Given the description of an element on the screen output the (x, y) to click on. 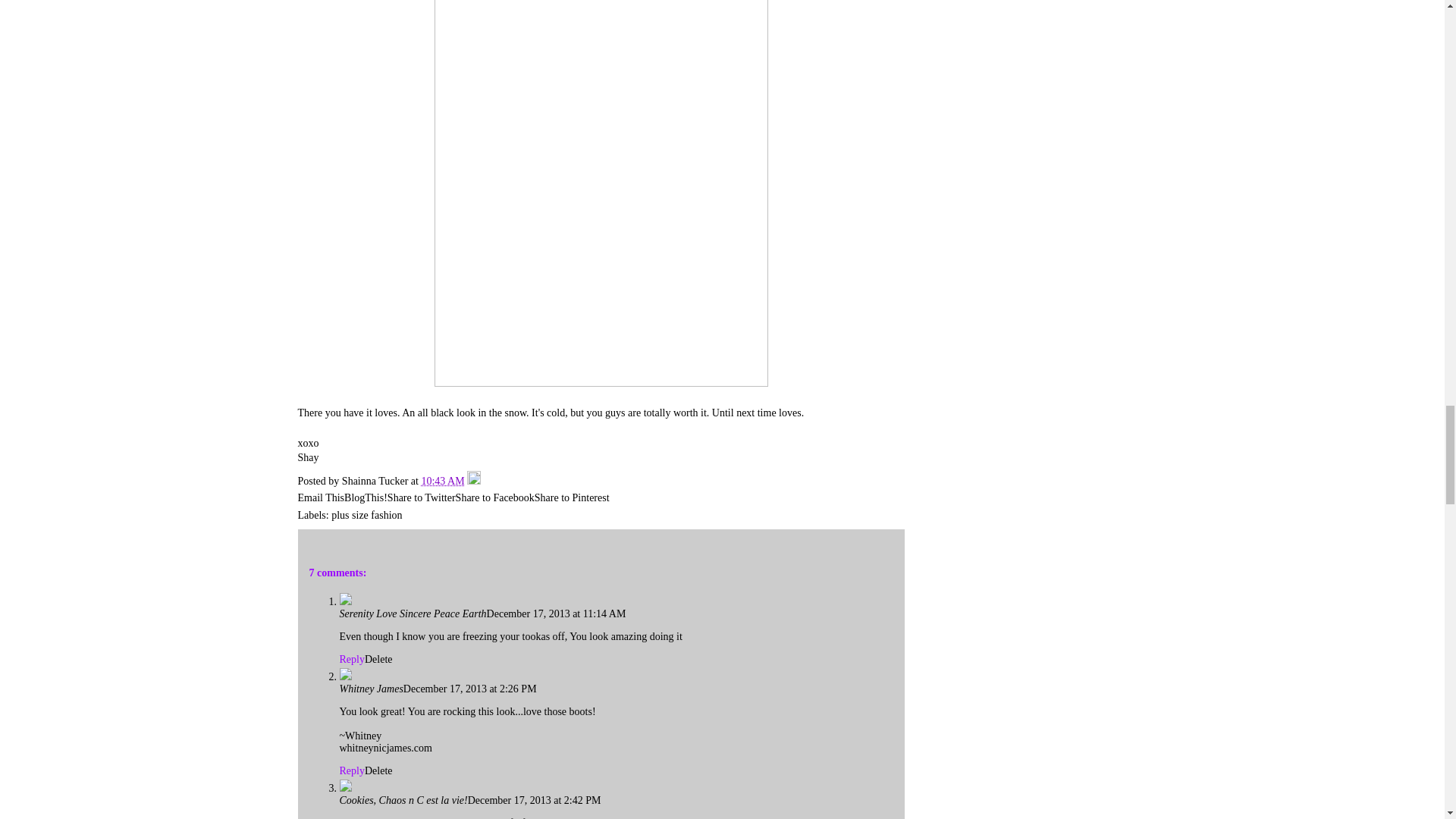
Reply (352, 659)
Reply (352, 770)
10:43 AM (442, 480)
permanent link (442, 480)
